Given the description of an element on the screen output the (x, y) to click on. 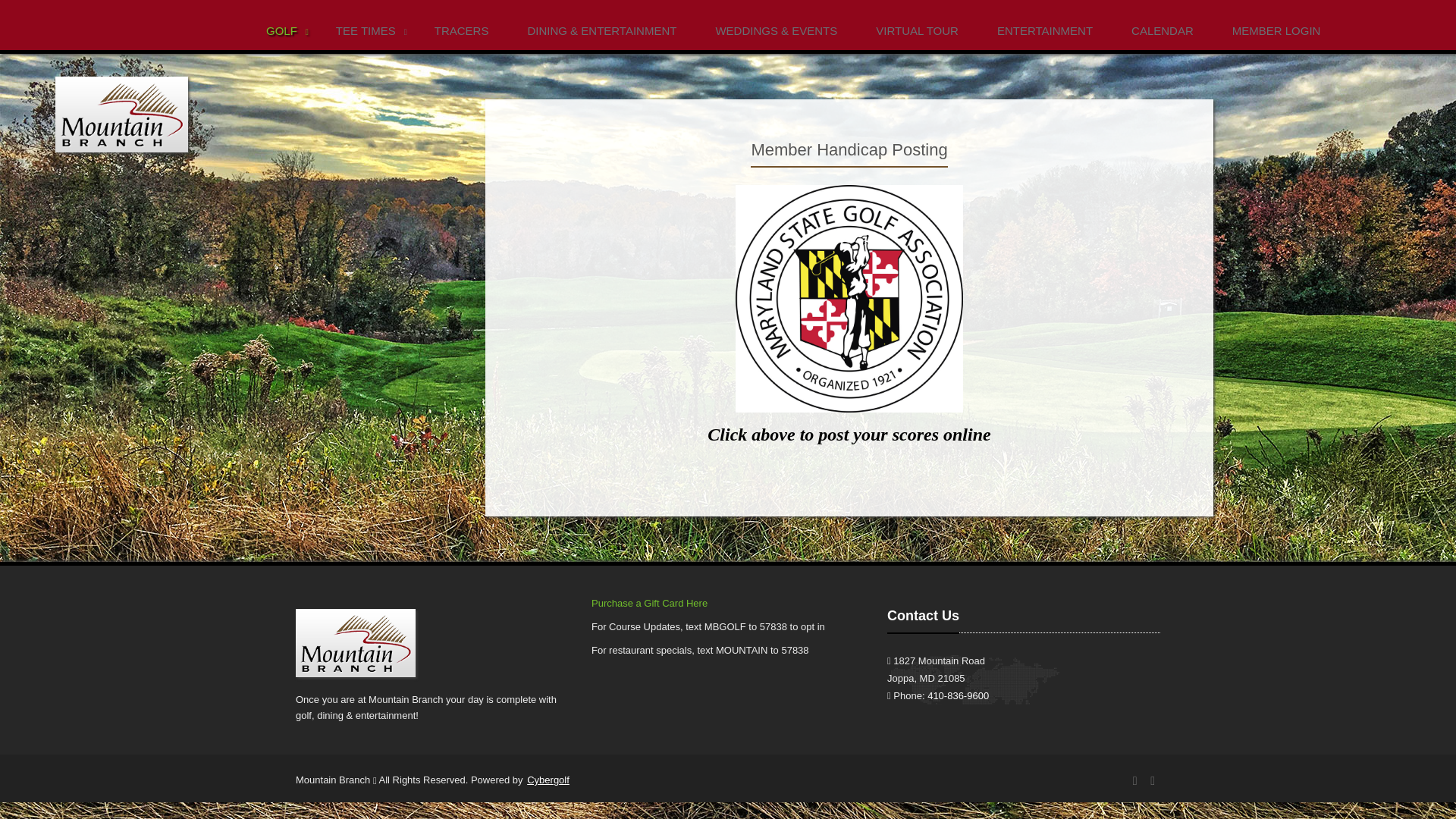
TRACERS (465, 31)
GOLF (285, 31)
TEE TIMES (369, 31)
